Given the description of an element on the screen output the (x, y) to click on. 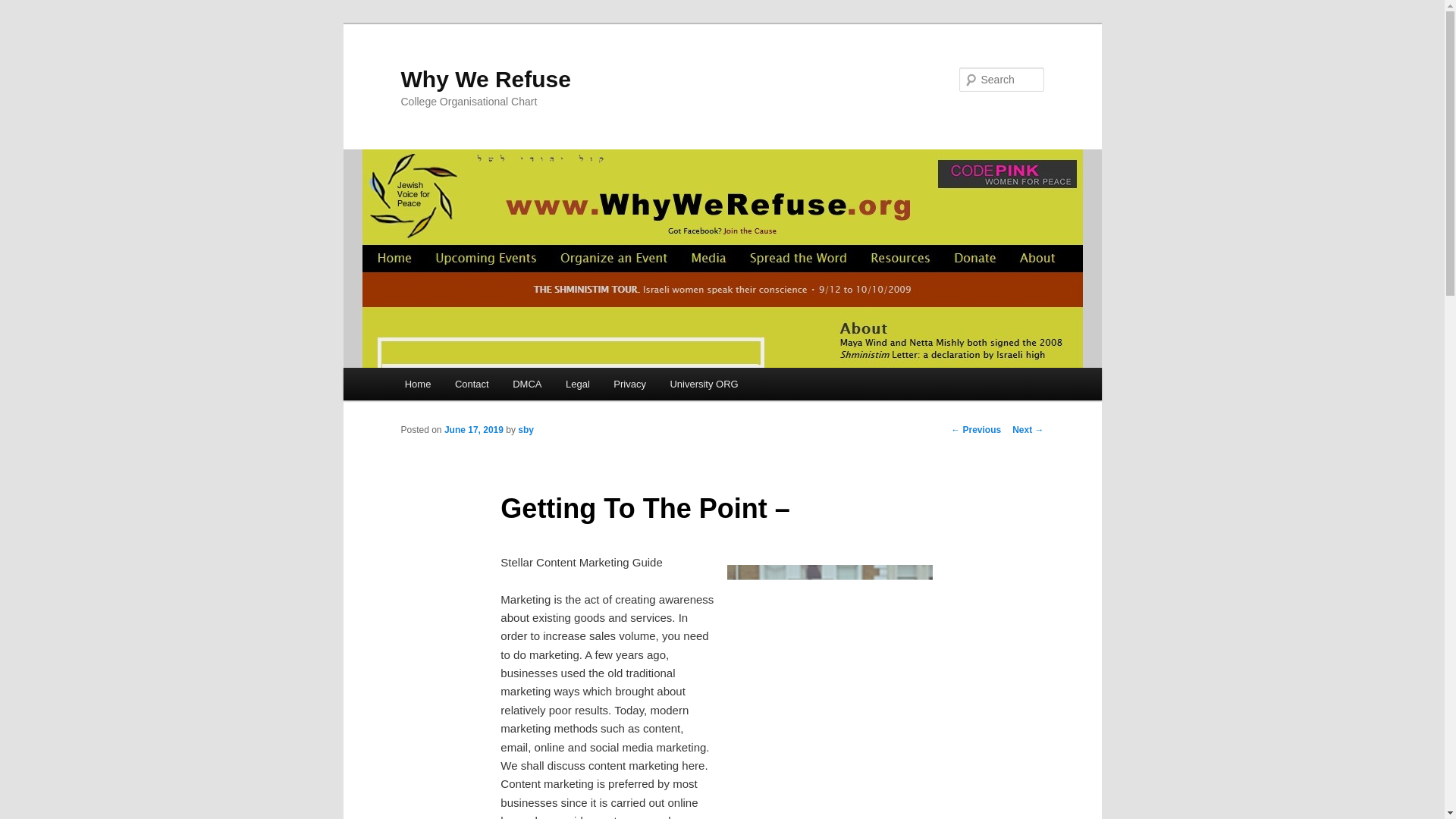
DMCA (526, 383)
Search (21, 11)
University ORG (704, 383)
sby (526, 429)
Why We Refuse (485, 78)
June 17, 2019 (473, 429)
Legal (577, 383)
Home (417, 383)
Search (24, 8)
